Given the description of an element on the screen output the (x, y) to click on. 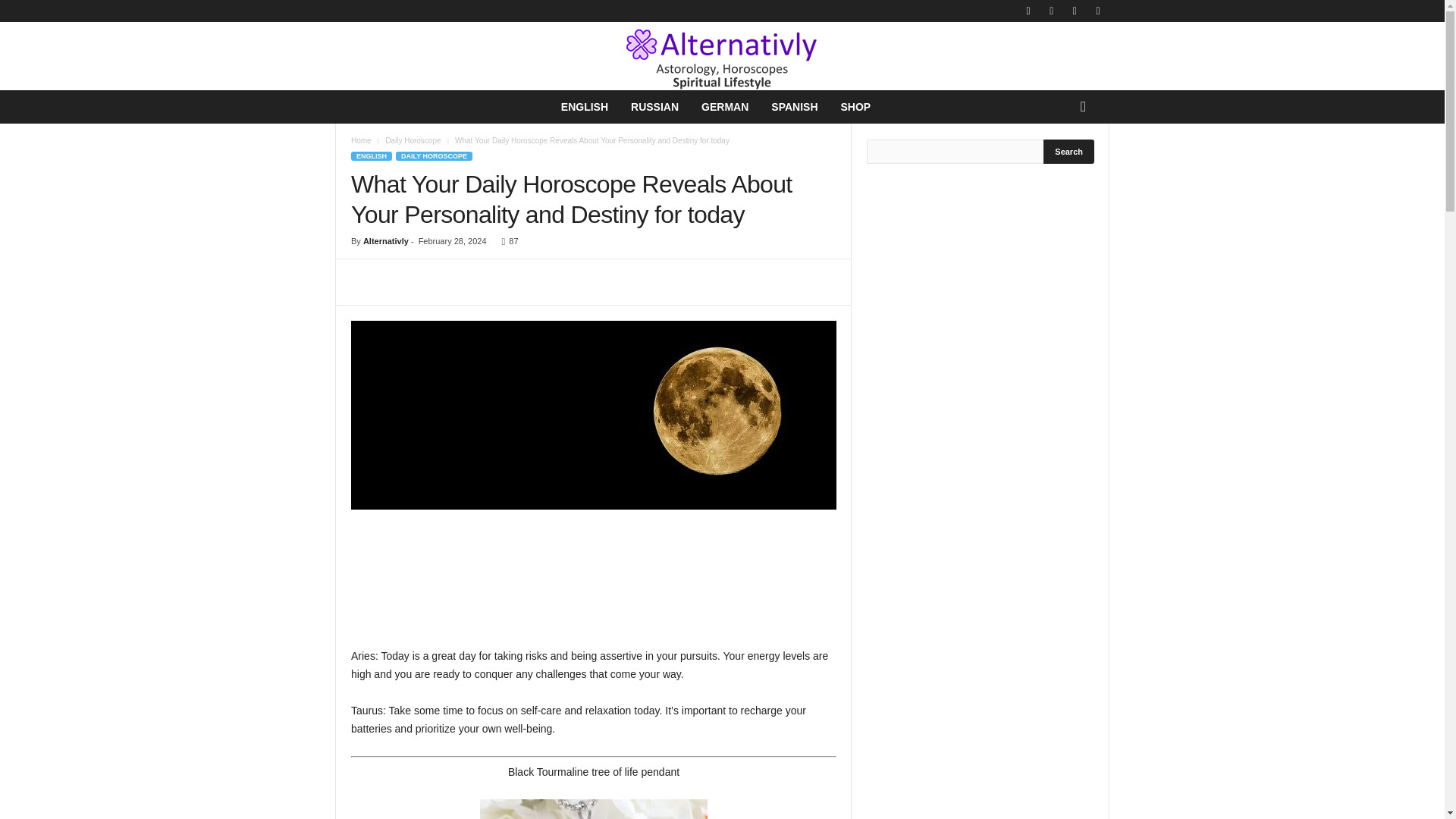
View all posts in Daily Horoscope (413, 140)
Search (1068, 151)
